Given the description of an element on the screen output the (x, y) to click on. 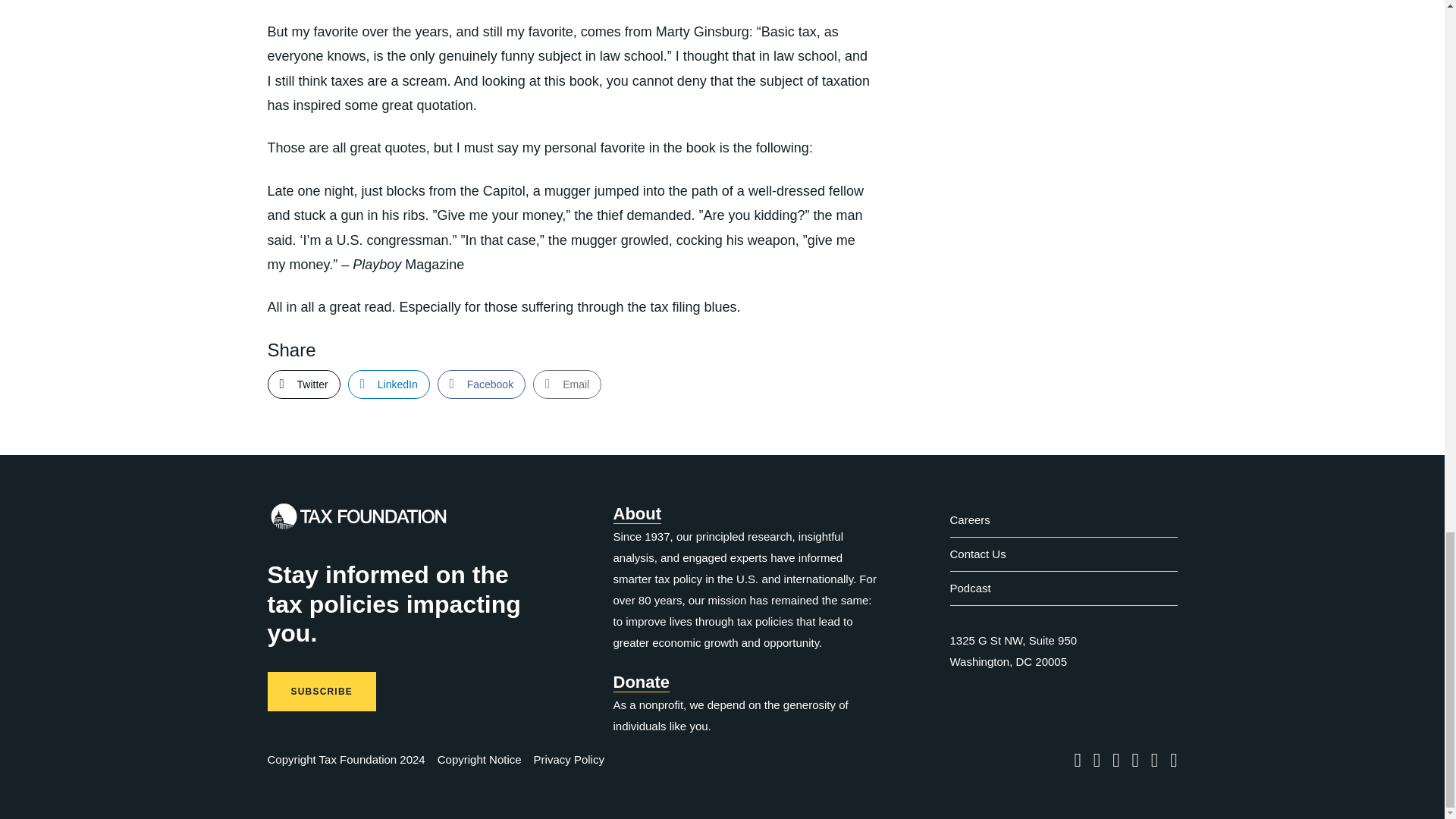
Tax Foundation (357, 519)
